Given the description of an element on the screen output the (x, y) to click on. 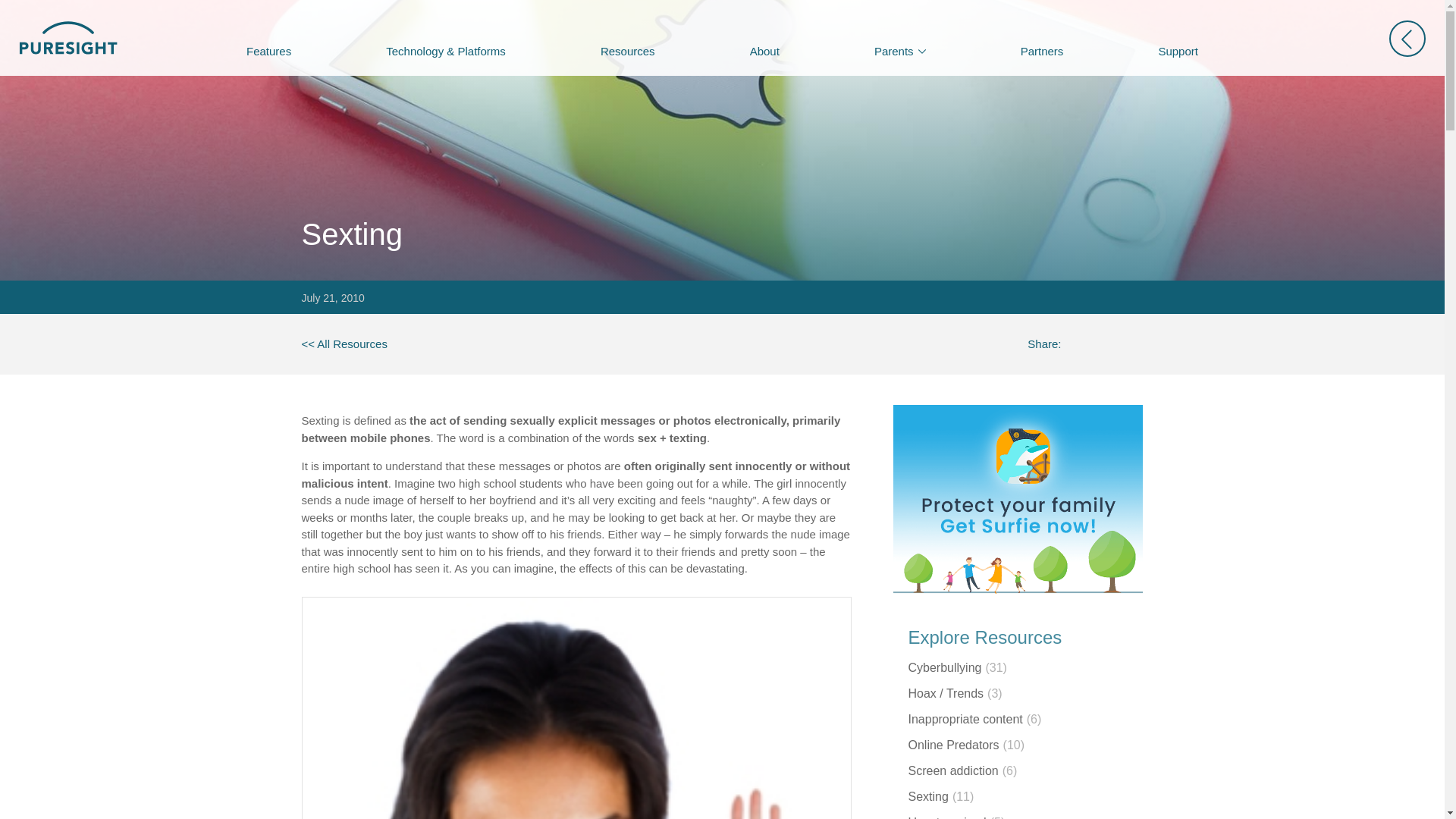
WhatsApp (1129, 344)
Parents (899, 50)
Twitter (1102, 344)
PureSight (344, 343)
Twitter (1102, 344)
Facebook (1075, 344)
side nav toggle (1407, 38)
Features (268, 50)
Resources (627, 50)
Support (1177, 50)
